Given the description of an element on the screen output the (x, y) to click on. 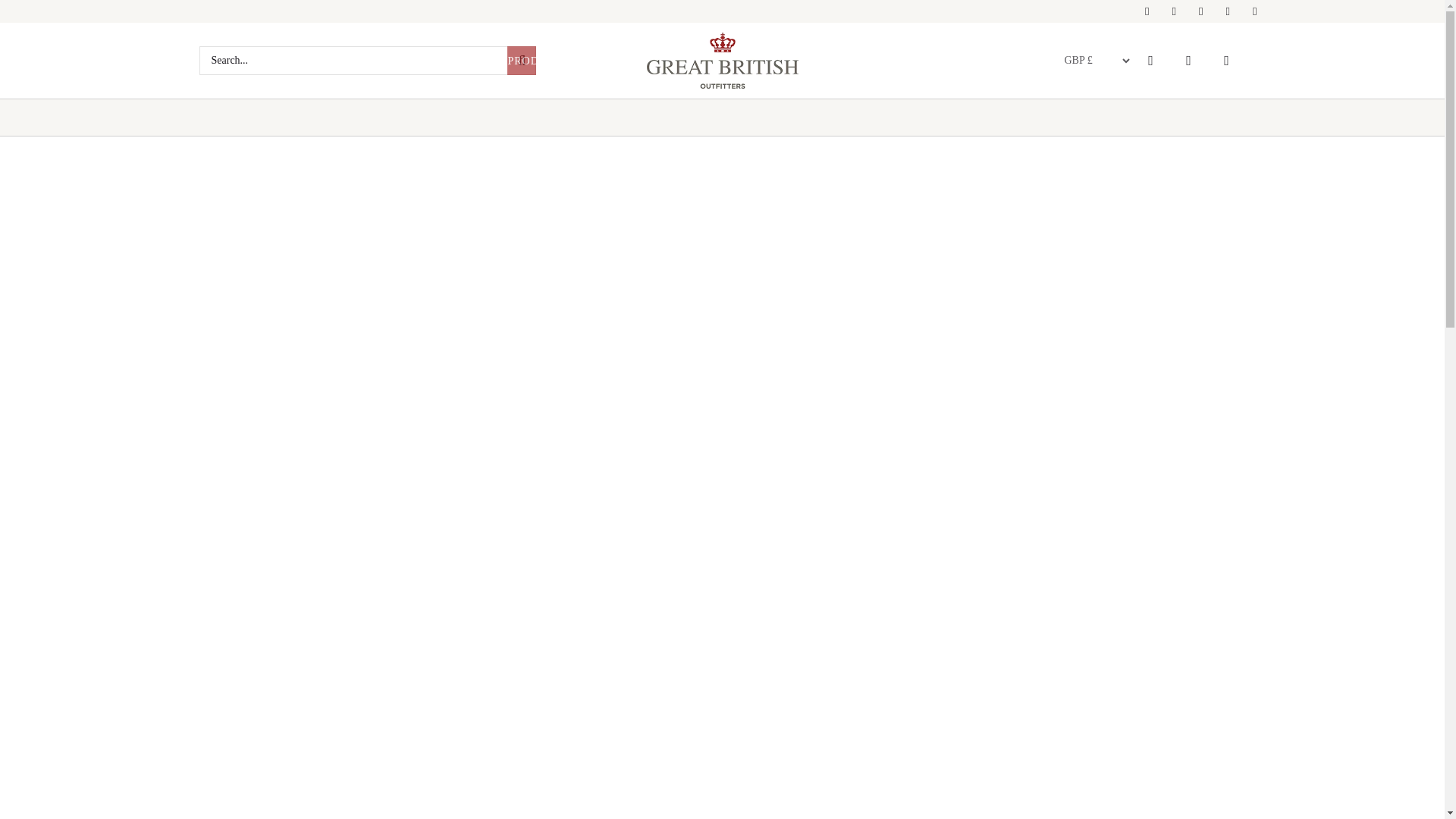
product (520, 60)
product (520, 60)
product (520, 60)
